Given the description of an element on the screen output the (x, y) to click on. 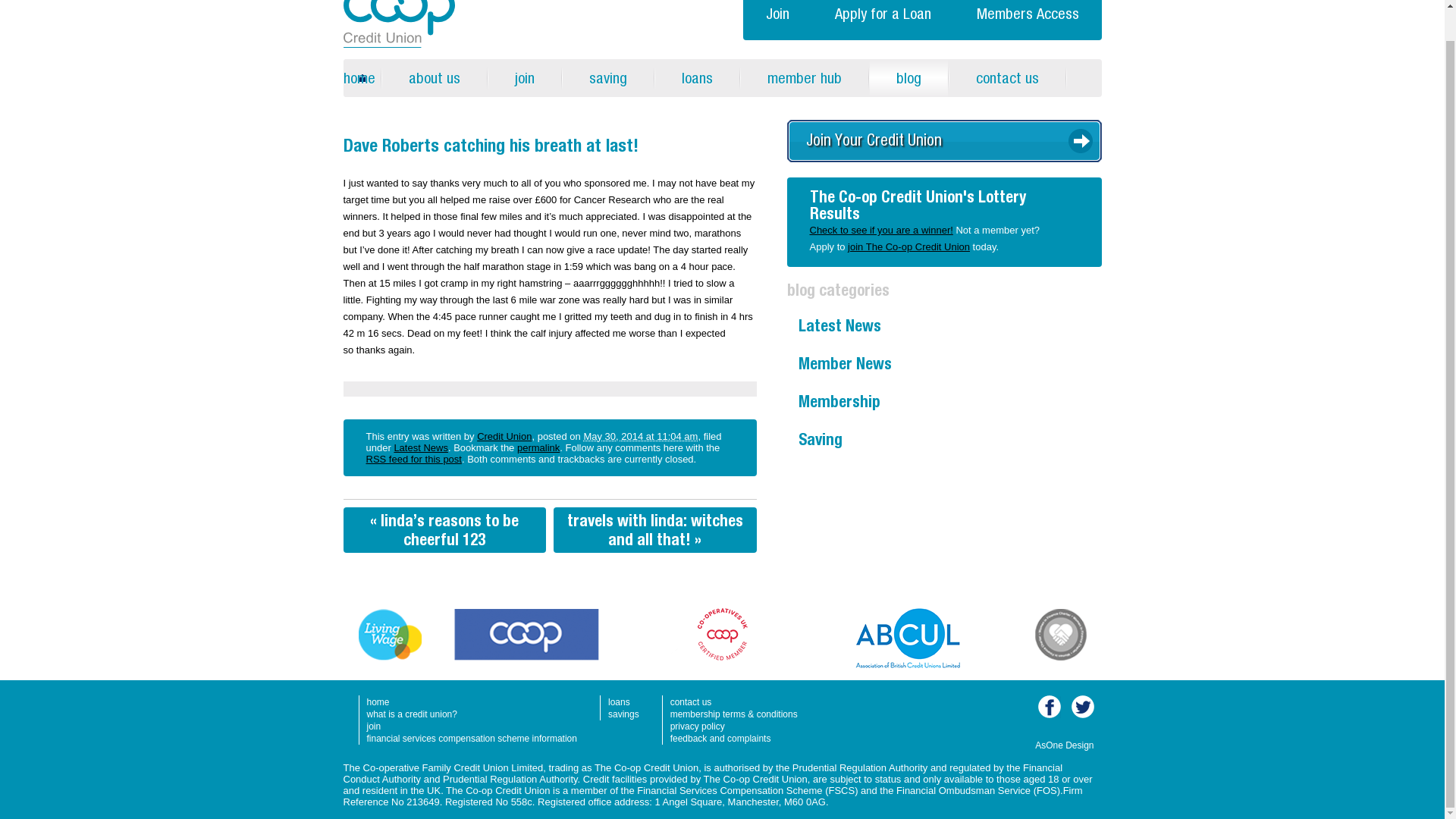
saving (607, 77)
Permalink to Dave Roberts catching his breath at last! (537, 447)
home (361, 77)
Join (777, 20)
Members Access (1027, 20)
about us (433, 77)
Apply for a Loan (881, 20)
Comments RSS to Dave Roberts catching his breath at last! (413, 459)
loans (697, 77)
View all posts by Credit Union (504, 436)
join (523, 77)
